Given the description of an element on the screen output the (x, y) to click on. 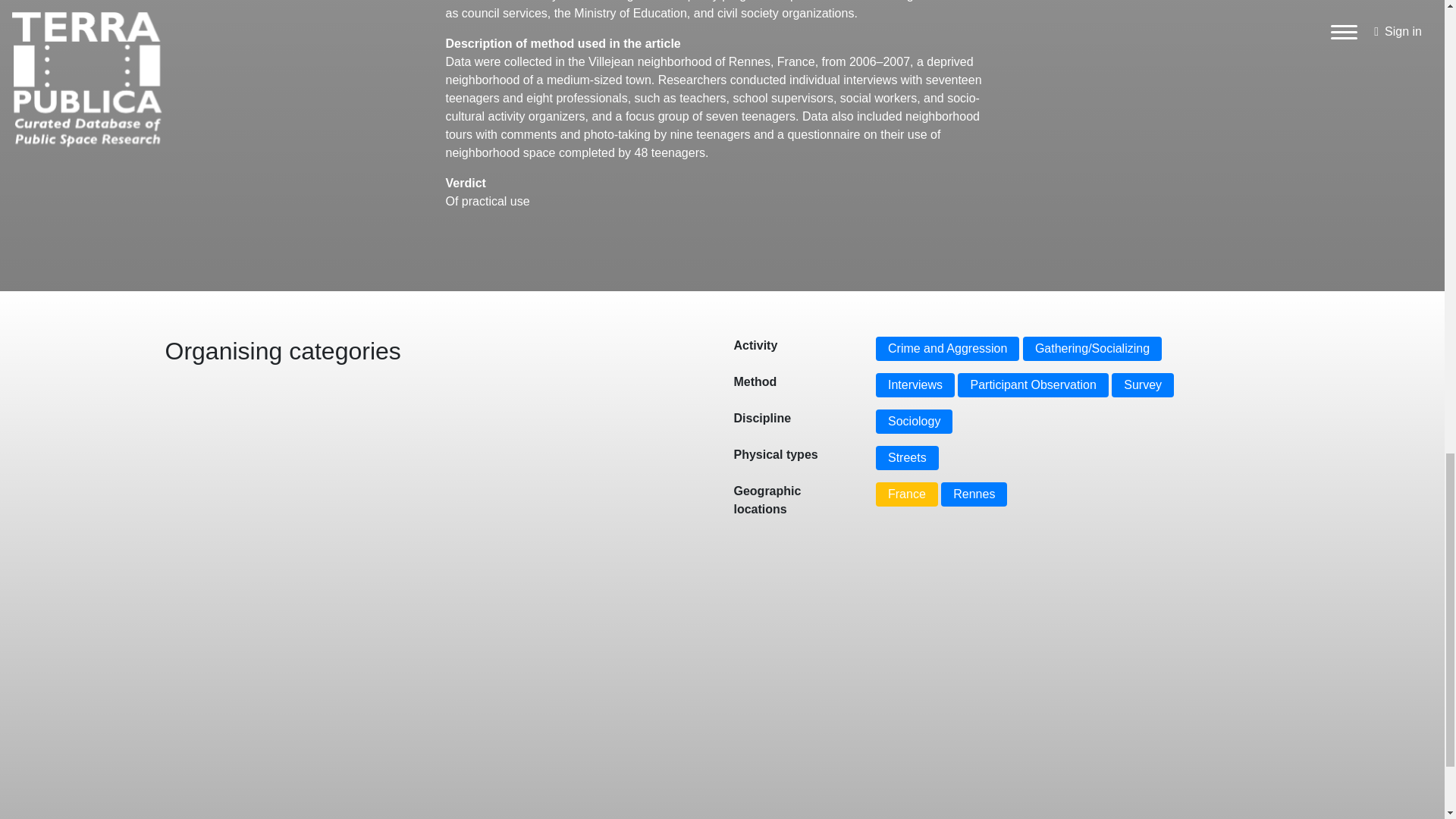
France (906, 494)
Survey (1142, 385)
Streets (907, 457)
Rennes (973, 494)
Participant Observation (1033, 385)
Sociology (914, 421)
Interviews (915, 385)
Crime and Aggression (947, 348)
